Given the description of an element on the screen output the (x, y) to click on. 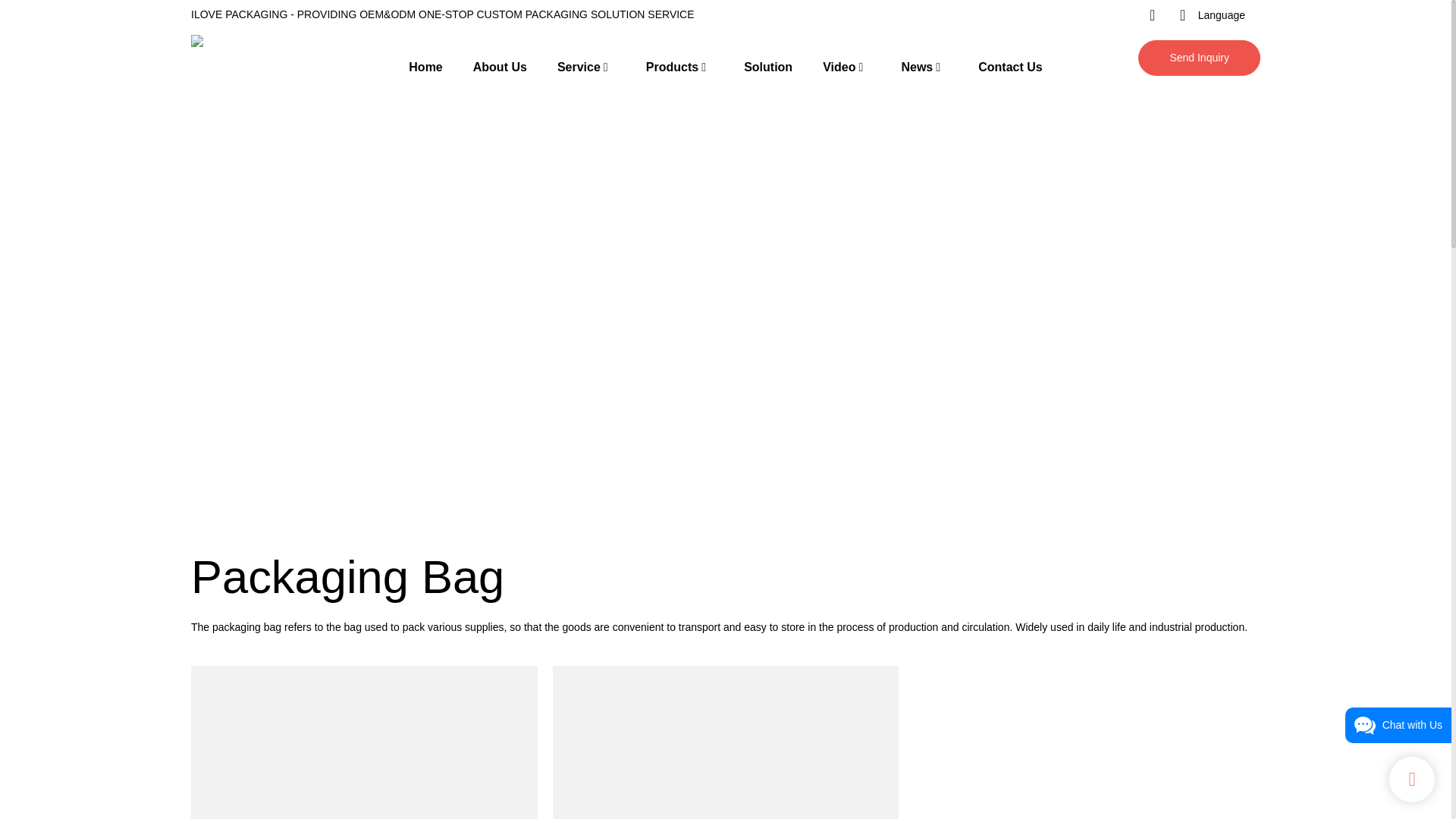
linkedin (1083, 15)
facebook (1053, 15)
youtube (1024, 15)
